Given the description of an element on the screen output the (x, y) to click on. 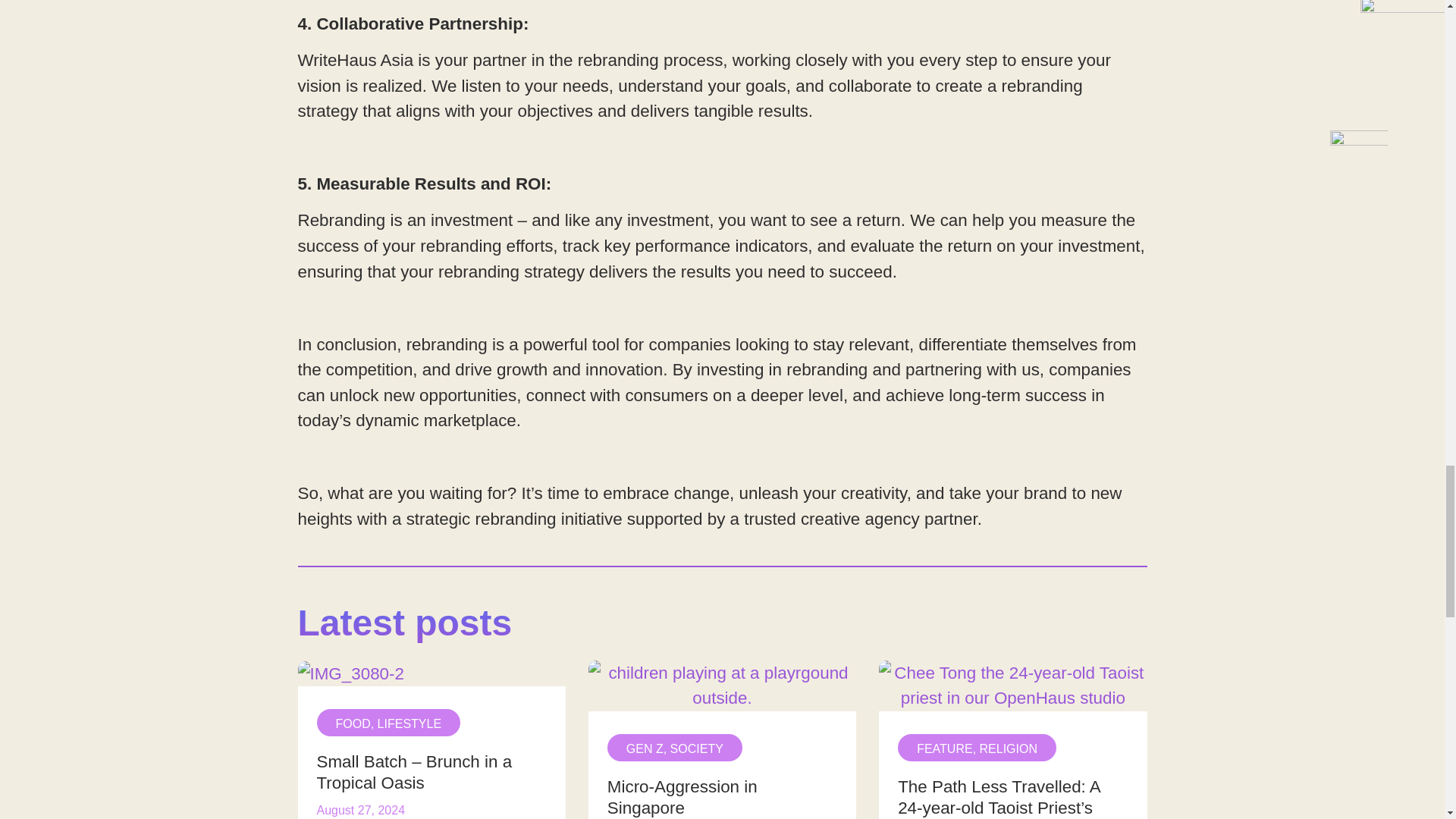
Chee Tong, 24 Year Old Priest, Feature Photo (1013, 685)
full-shot-kids-playing-outside (722, 739)
